Given the description of an element on the screen output the (x, y) to click on. 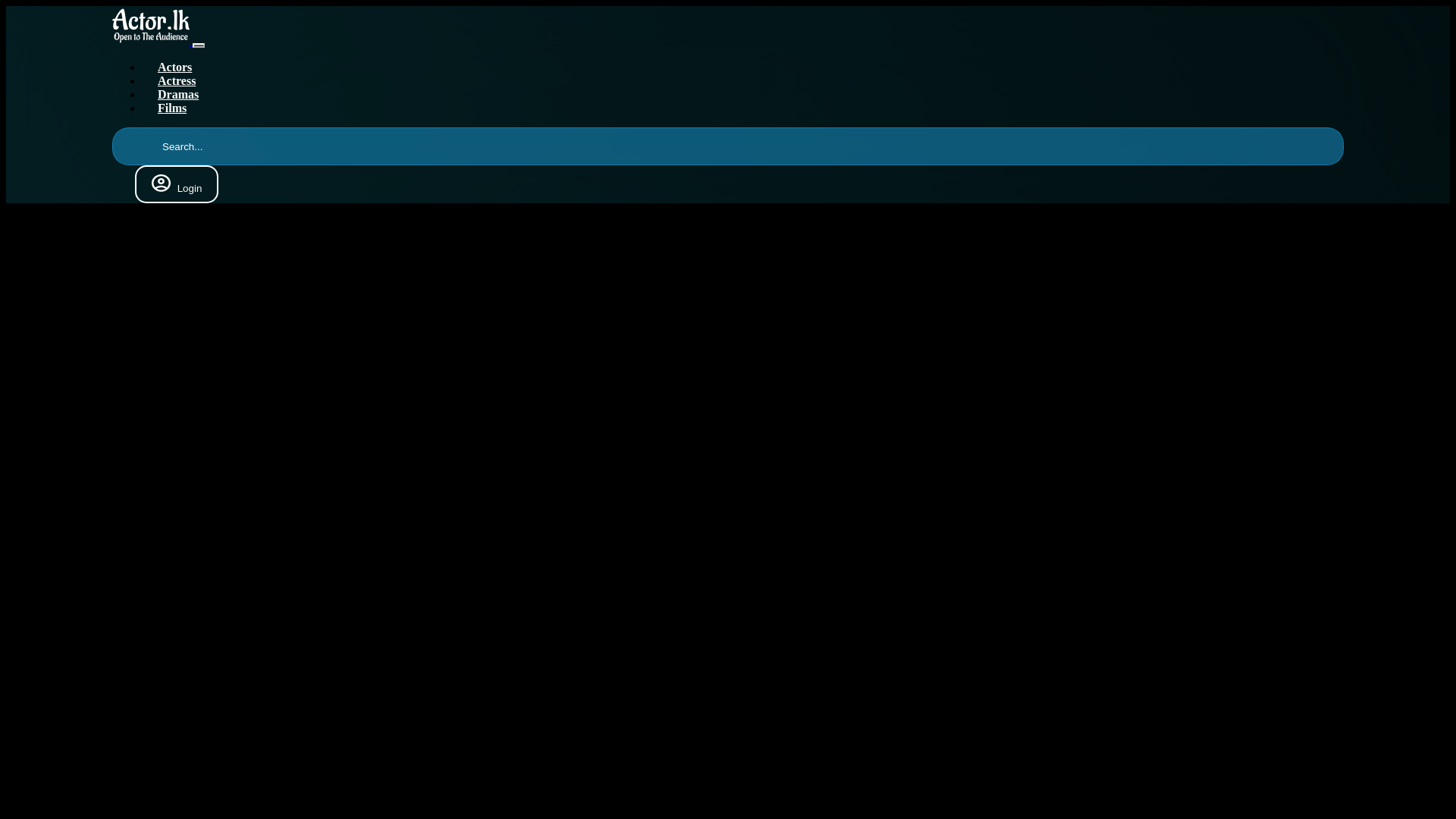
Actors (174, 67)
Films (172, 108)
Dramas (178, 94)
Actress (176, 80)
